Given the description of an element on the screen output the (x, y) to click on. 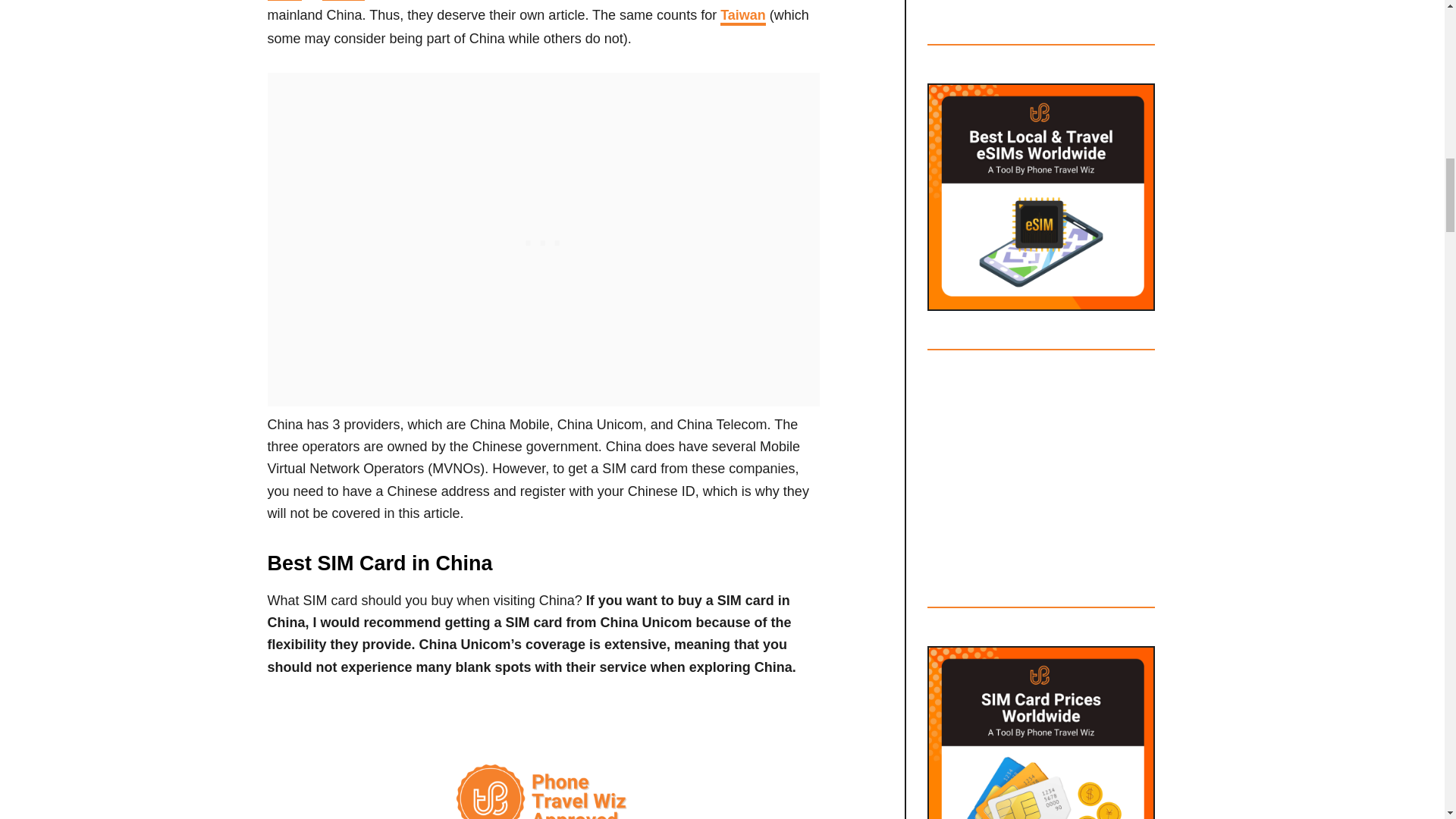
Taiwan (742, 16)
Macau (342, 0)
